Given the description of an element on the screen output the (x, y) to click on. 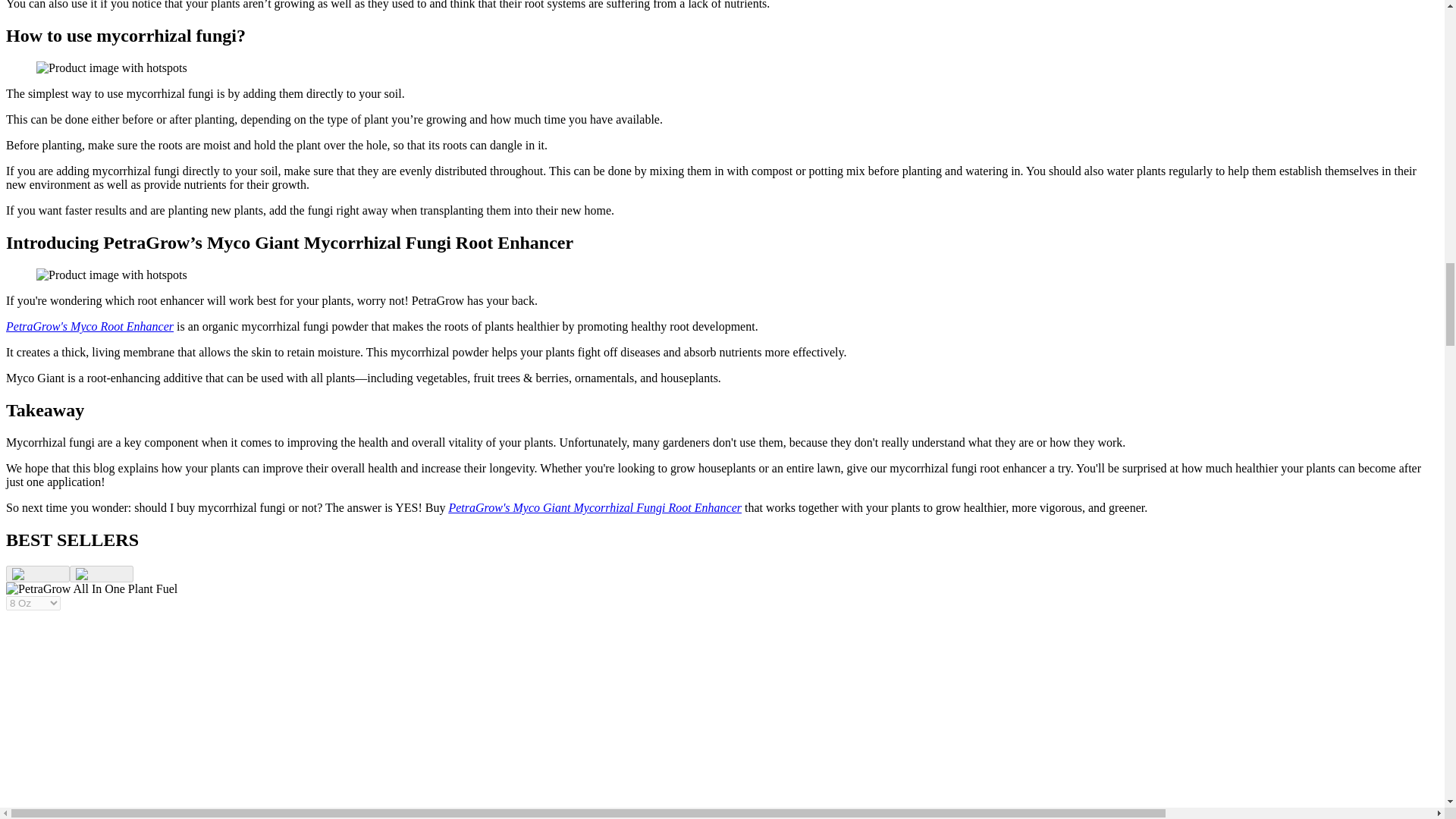
PetraGrow's Myco Giant Mycorrhizal Fungi Root Enhancer (594, 507)
PetraGrow's Myco Root Enhancer (89, 326)
